Given the description of an element on the screen output the (x, y) to click on. 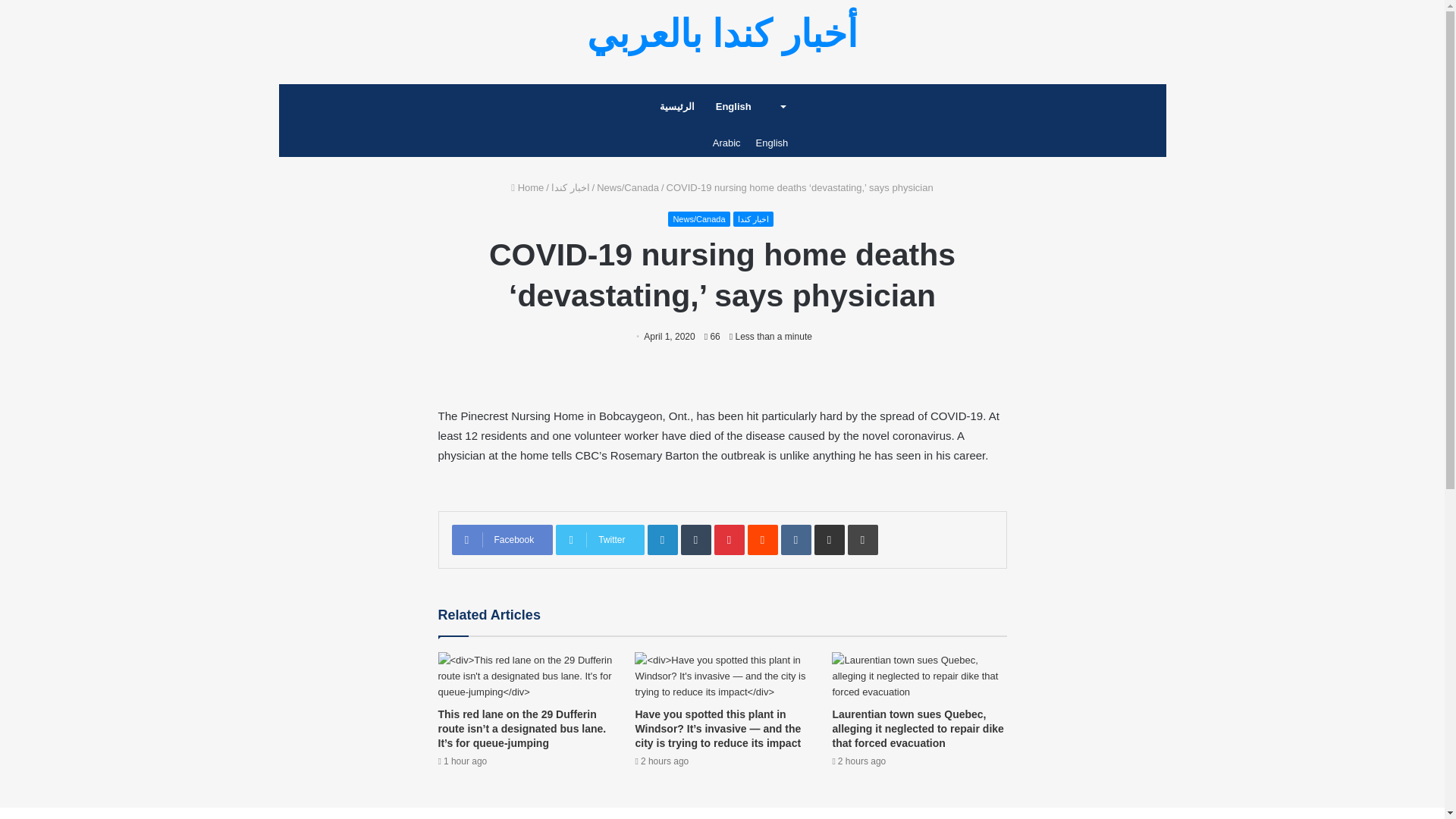
Reddit (762, 539)
Facebook (502, 539)
Home (527, 187)
Share via Email (828, 539)
LinkedIn (662, 539)
English (772, 143)
Arabic (726, 143)
Tumblr (696, 539)
Print (862, 539)
English (750, 106)
VKontakte (795, 539)
Pinterest (729, 539)
Twitter (599, 539)
